Given the description of an element on the screen output the (x, y) to click on. 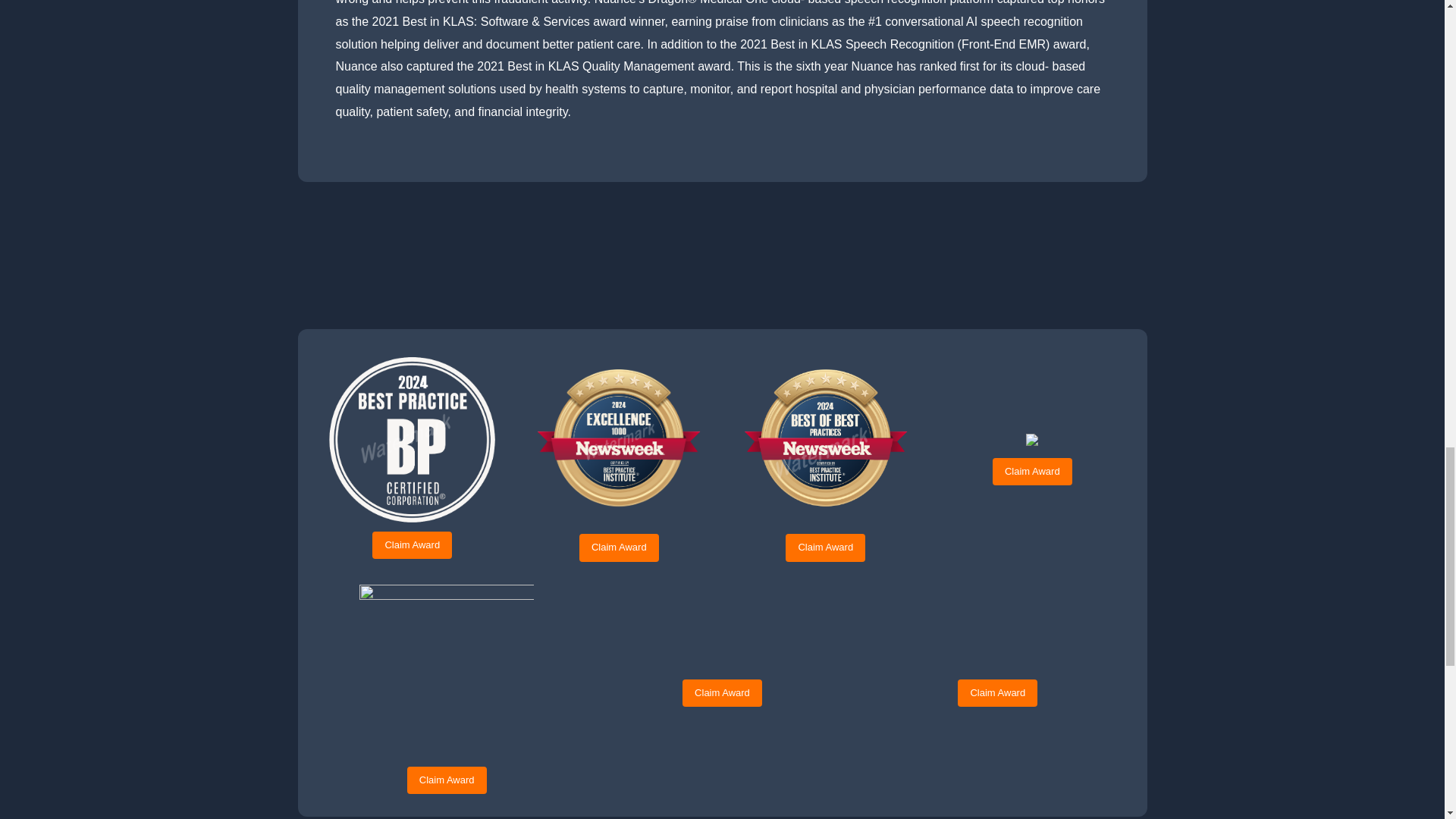
Claim Award (411, 544)
Claim Award (825, 547)
Claim Award (619, 547)
Claim Award (1031, 471)
